Given the description of an element on the screen output the (x, y) to click on. 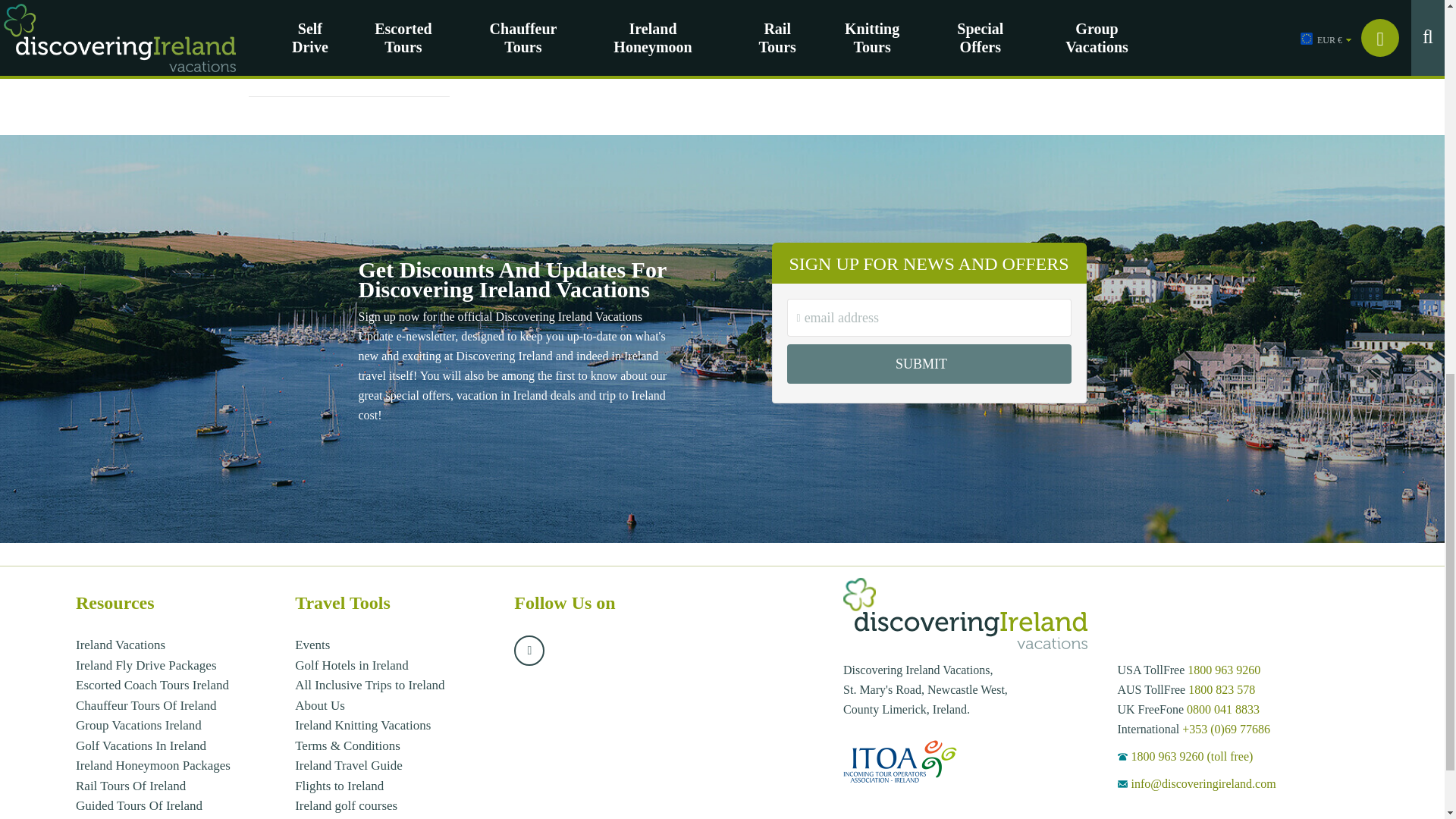
PRACTICAL INFORMATION (348, 4)
TRAVEL TOOLS (348, 31)
